Given the description of an element on the screen output the (x, y) to click on. 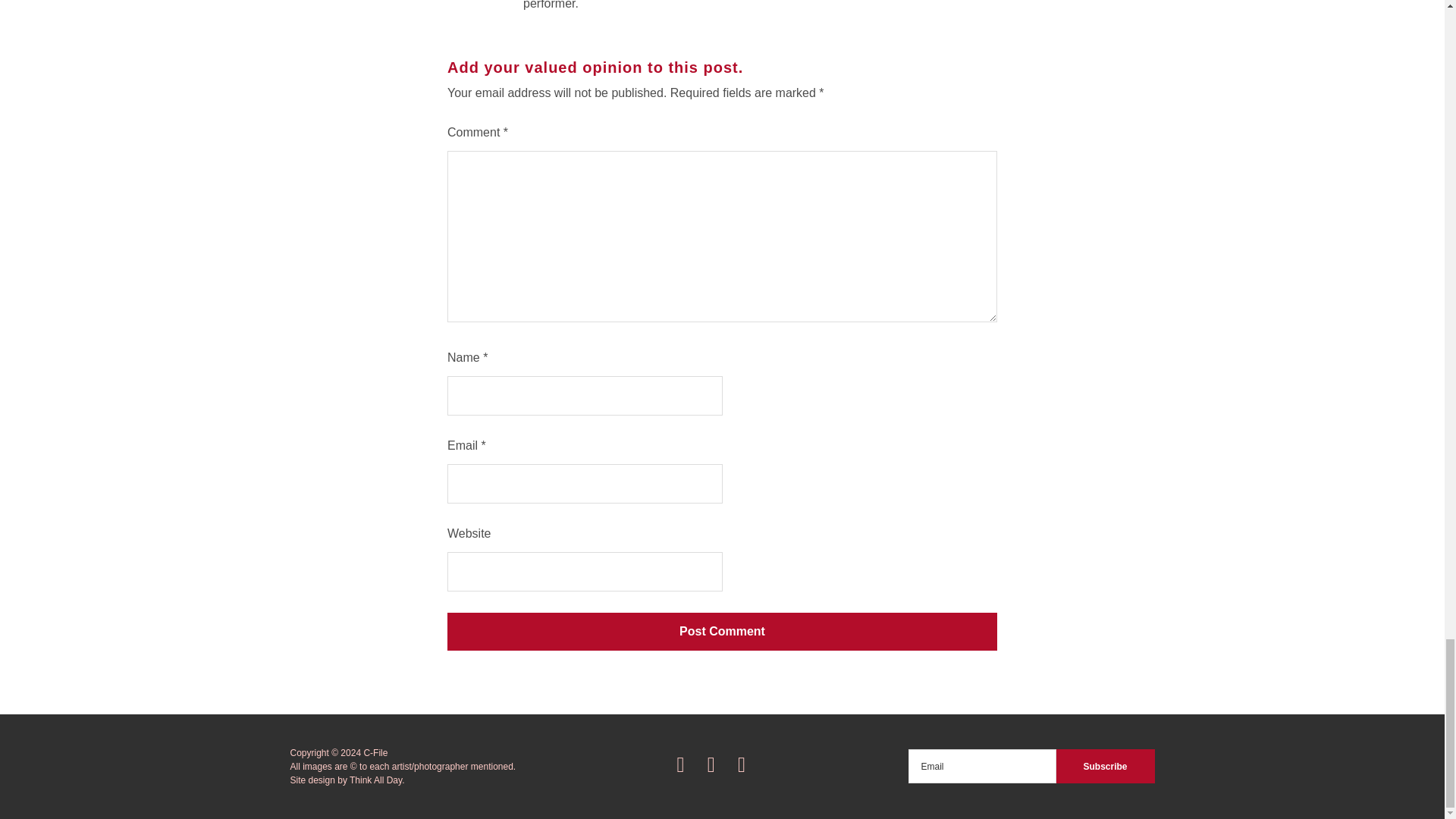
Post Comment (721, 631)
Post Comment (721, 631)
Think All Day. (376, 779)
Subscribe (1104, 765)
Subscribe (1104, 765)
